Given the description of an element on the screen output the (x, y) to click on. 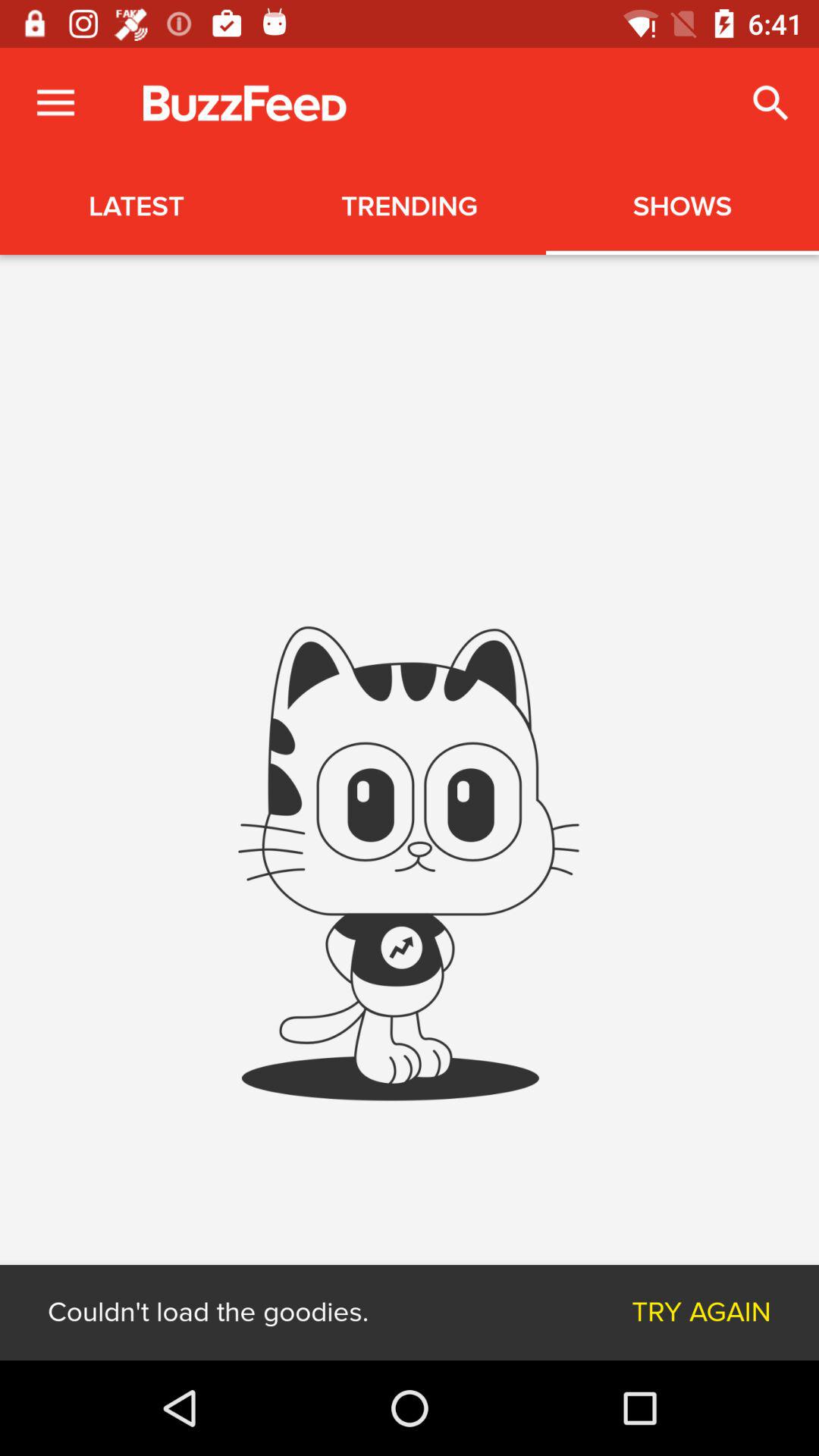
open the icon to the right of couldn t load icon (701, 1312)
